Given the description of an element on the screen output the (x, y) to click on. 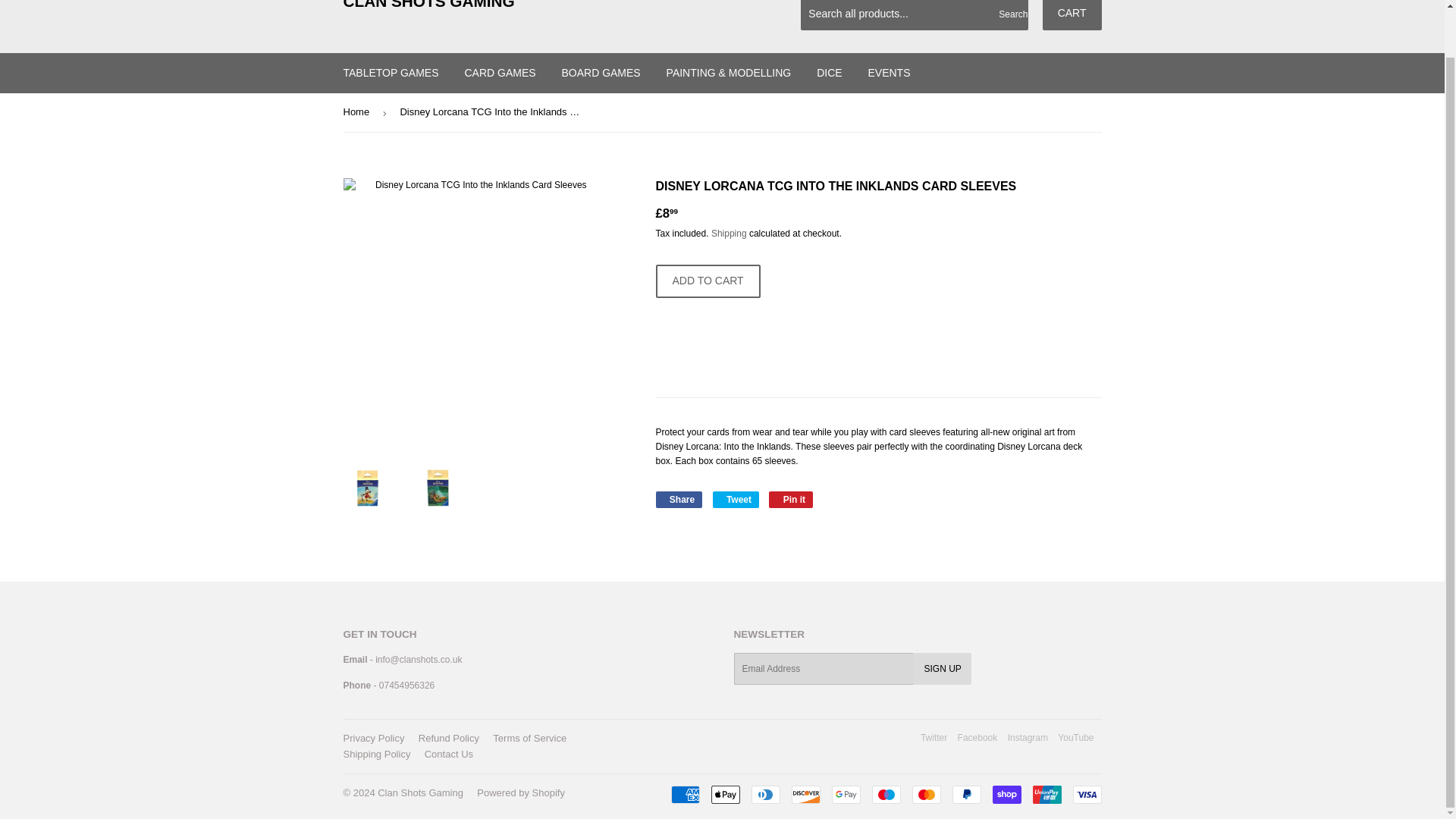
Search (1010, 15)
Diners Club (764, 794)
Apple Pay (725, 794)
Clan Shots Gaming on Instagram (1027, 737)
Mastercard (925, 794)
Clan Shots Gaming on YouTube (1075, 737)
PayPal (966, 794)
Clan Shots Gaming on Facebook (977, 737)
Maestro (886, 794)
Visa (1085, 794)
